Given the description of an element on the screen output the (x, y) to click on. 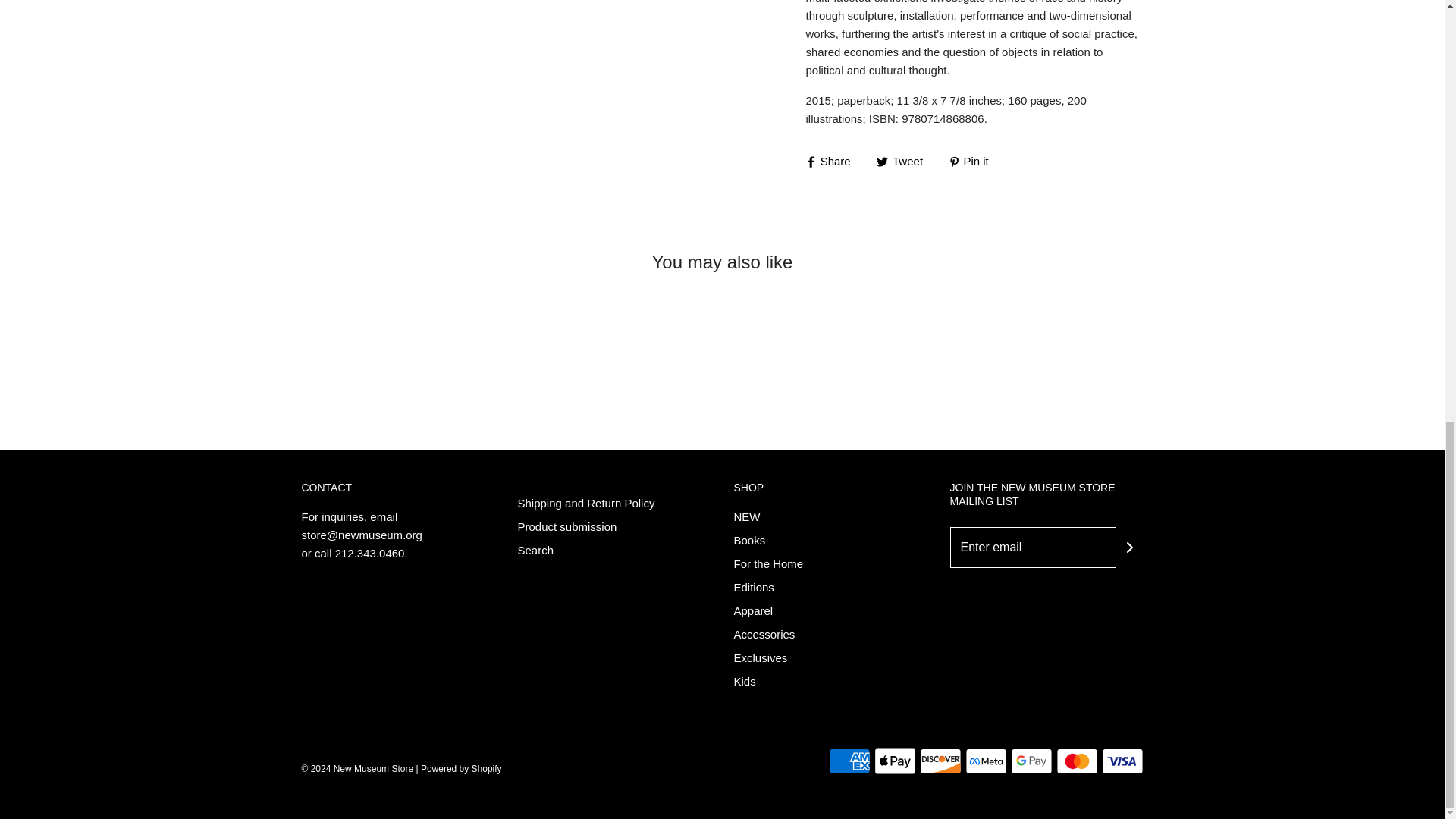
Visa (1121, 761)
Discover (939, 761)
American Express (848, 761)
Apple Pay (894, 761)
Meta Pay (984, 761)
Mastercard (1076, 761)
Google Pay (1030, 761)
